Given the description of an element on the screen output the (x, y) to click on. 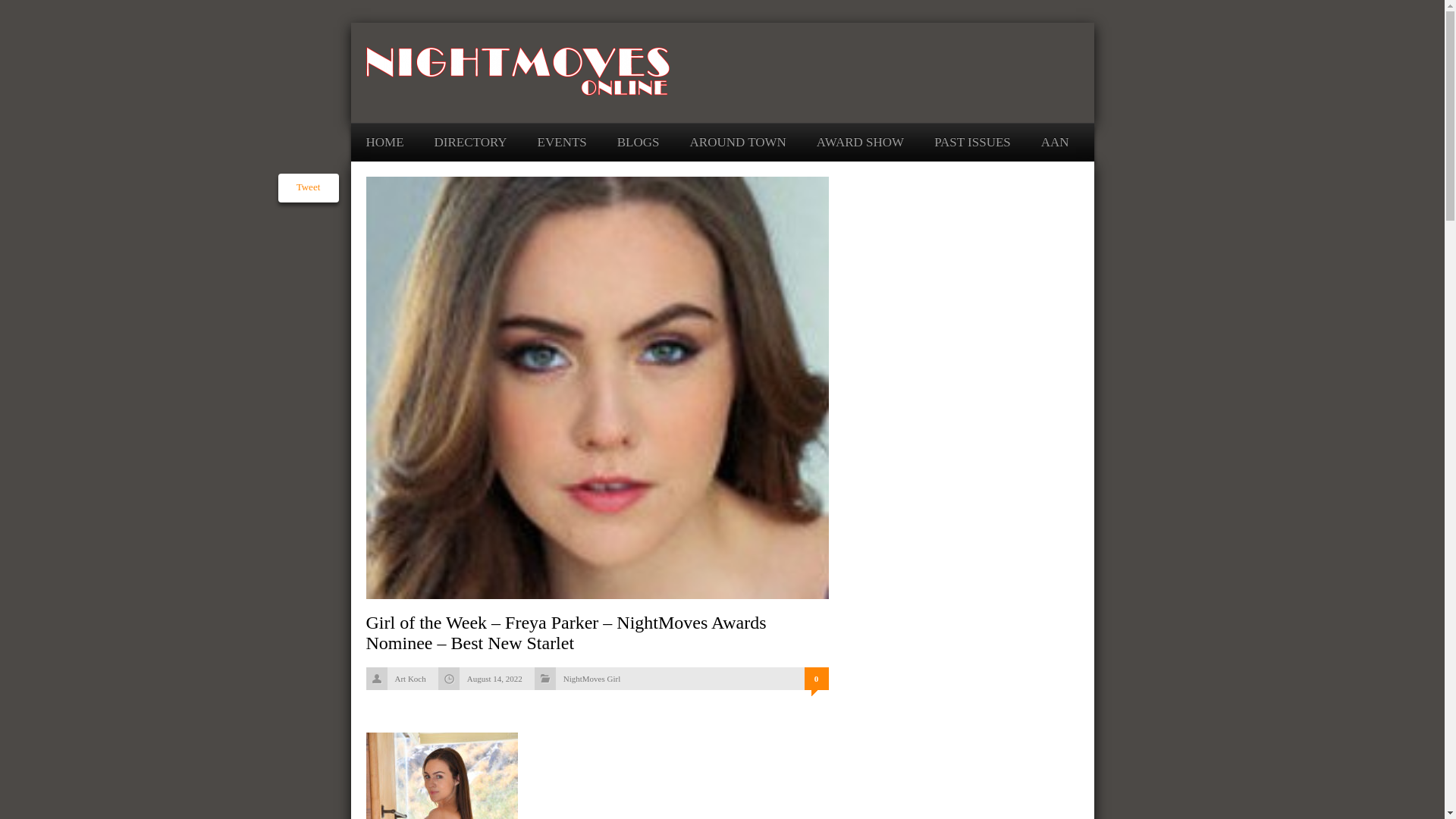
AAN (1054, 142)
EVENTS (561, 142)
BLOGS (638, 142)
DIRECTORY (469, 142)
Posts by Art Koch (409, 678)
Art Koch (409, 678)
AROUND TOWN (738, 142)
NightMoves Girl (591, 678)
PAST ISSUES (972, 142)
AWARD SHOW (860, 142)
HOME (384, 142)
